Given the description of an element on the screen output the (x, y) to click on. 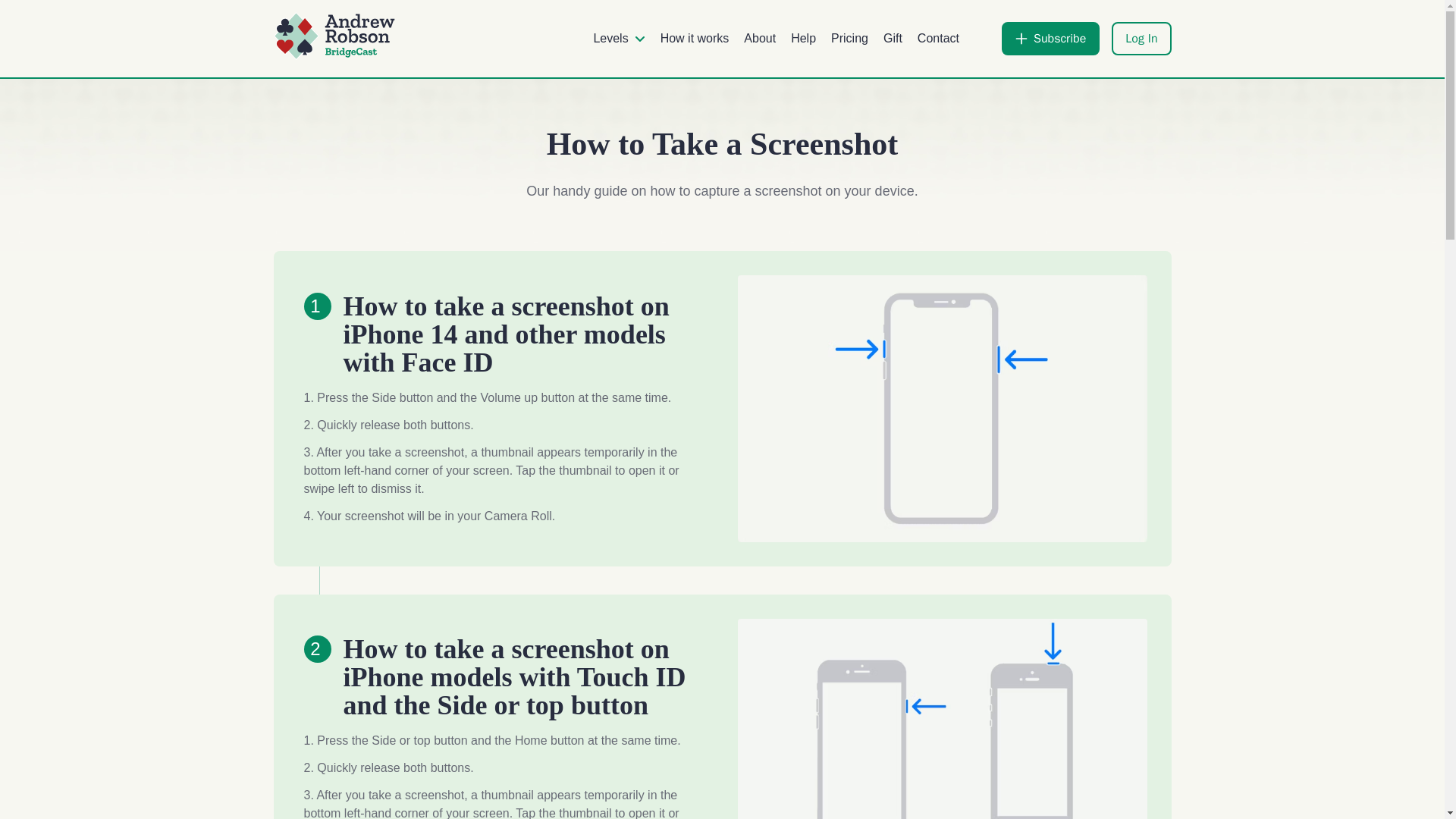
Help (802, 38)
Pricing (849, 38)
Subscribe (1050, 38)
Log In (1141, 38)
How it works (695, 38)
Gift (892, 38)
Contact (938, 38)
About (760, 38)
